Given the description of an element on the screen output the (x, y) to click on. 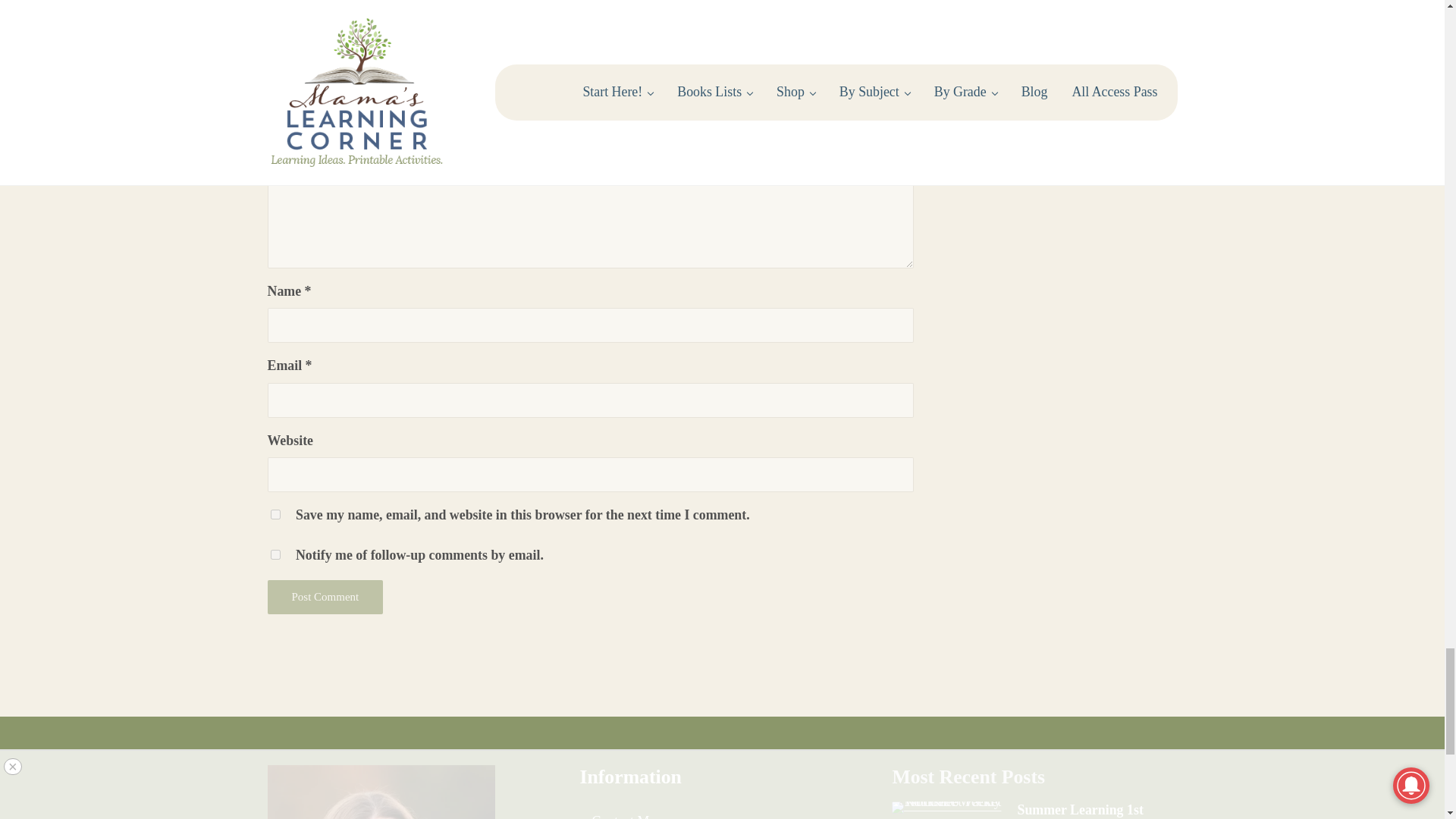
subscribe (274, 554)
yes (274, 514)
Post Comment (324, 596)
